Given the description of an element on the screen output the (x, y) to click on. 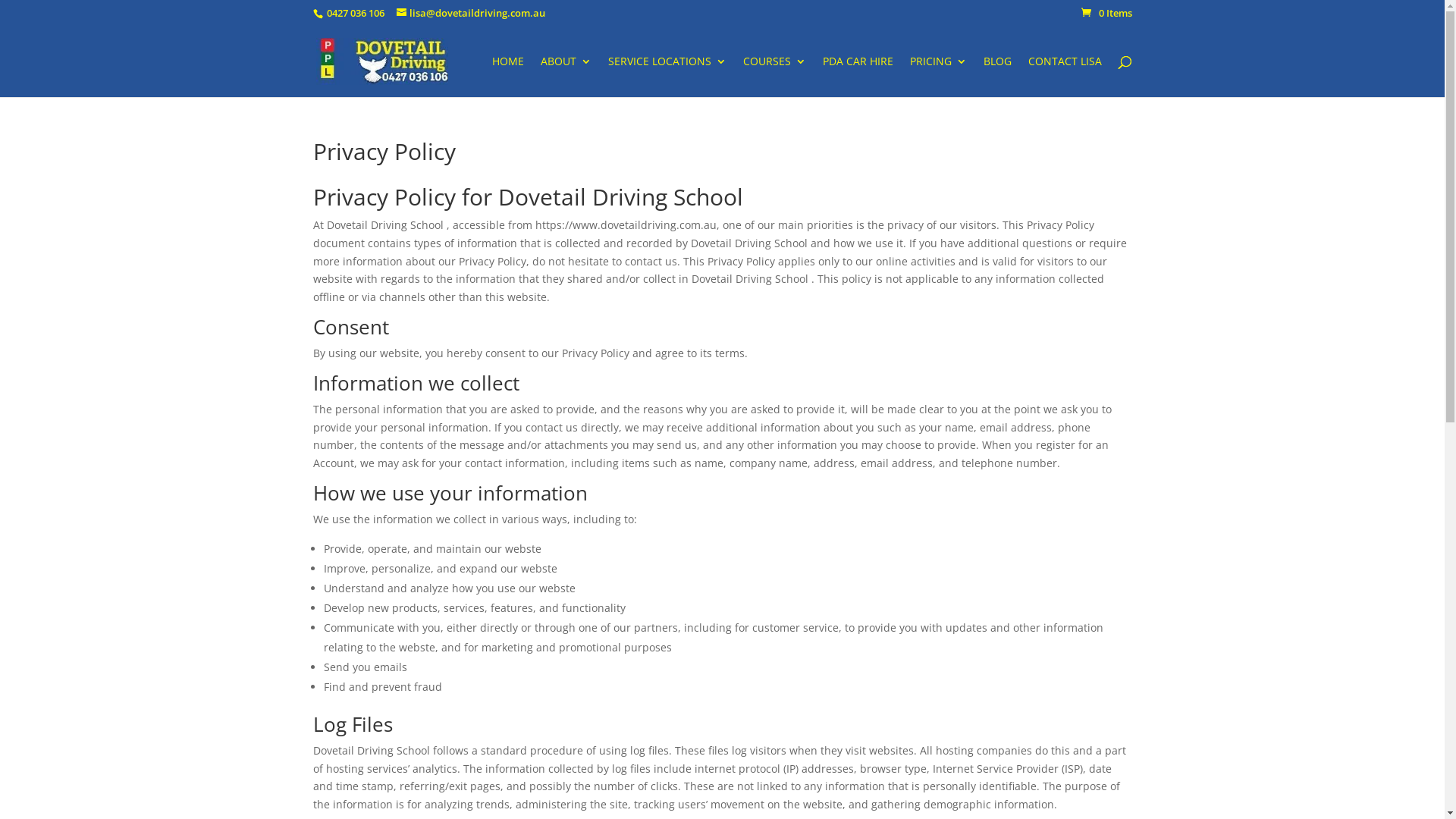
SERVICE LOCATIONS Element type: text (667, 76)
0427 036 106 Element type: text (354, 12)
ABOUT Element type: text (564, 76)
HOME Element type: text (507, 76)
COURSES Element type: text (774, 76)
PRICING Element type: text (938, 76)
PDA CAR HIRE Element type: text (857, 76)
BLOG Element type: text (996, 76)
lisa@dovetaildriving.com.au Element type: text (469, 12)
0 Items Element type: text (1106, 12)
CONTACT LISA Element type: text (1064, 76)
